Given the description of an element on the screen output the (x, y) to click on. 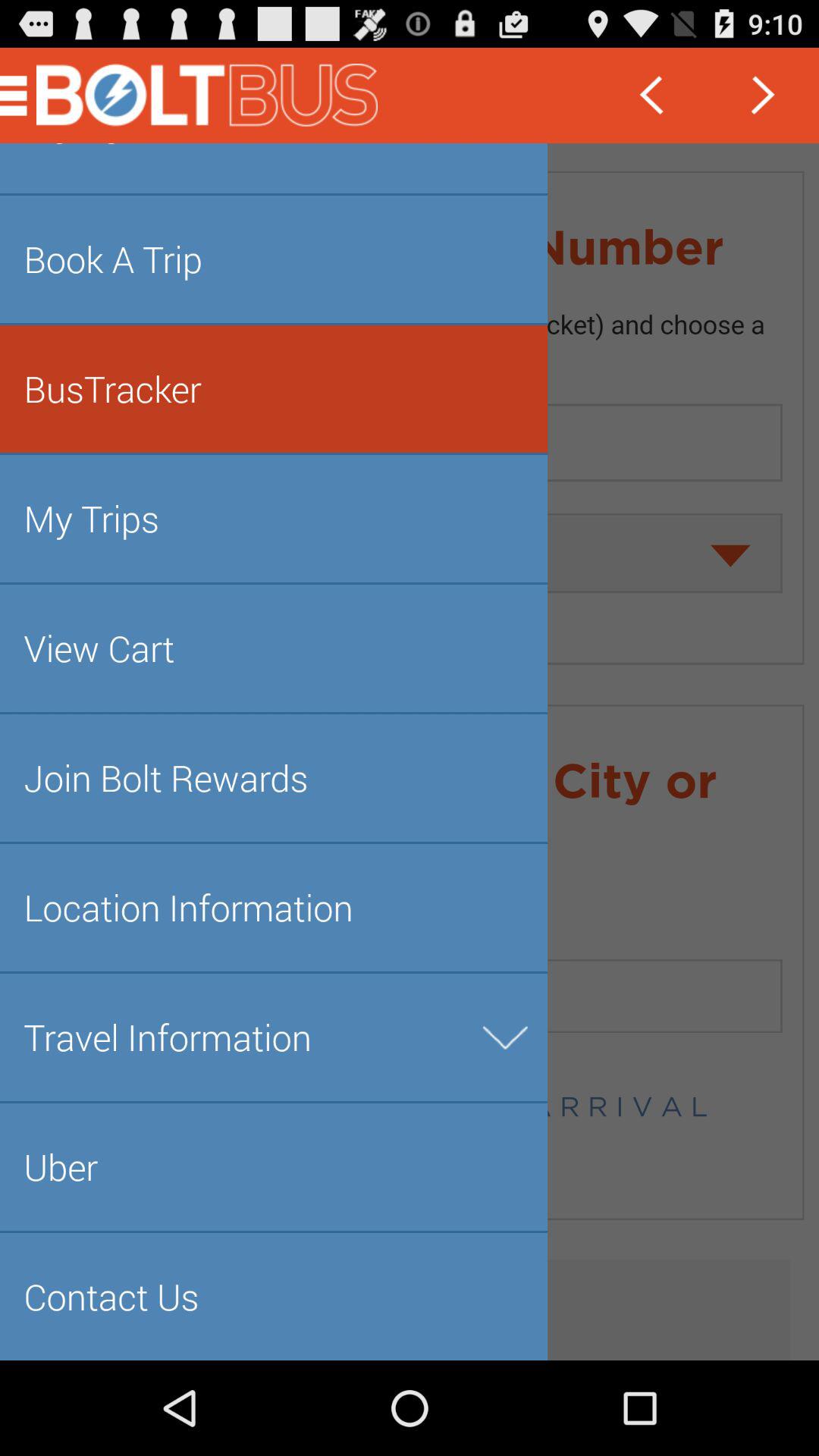
it 's the app menu (409, 751)
